Given the description of an element on the screen output the (x, y) to click on. 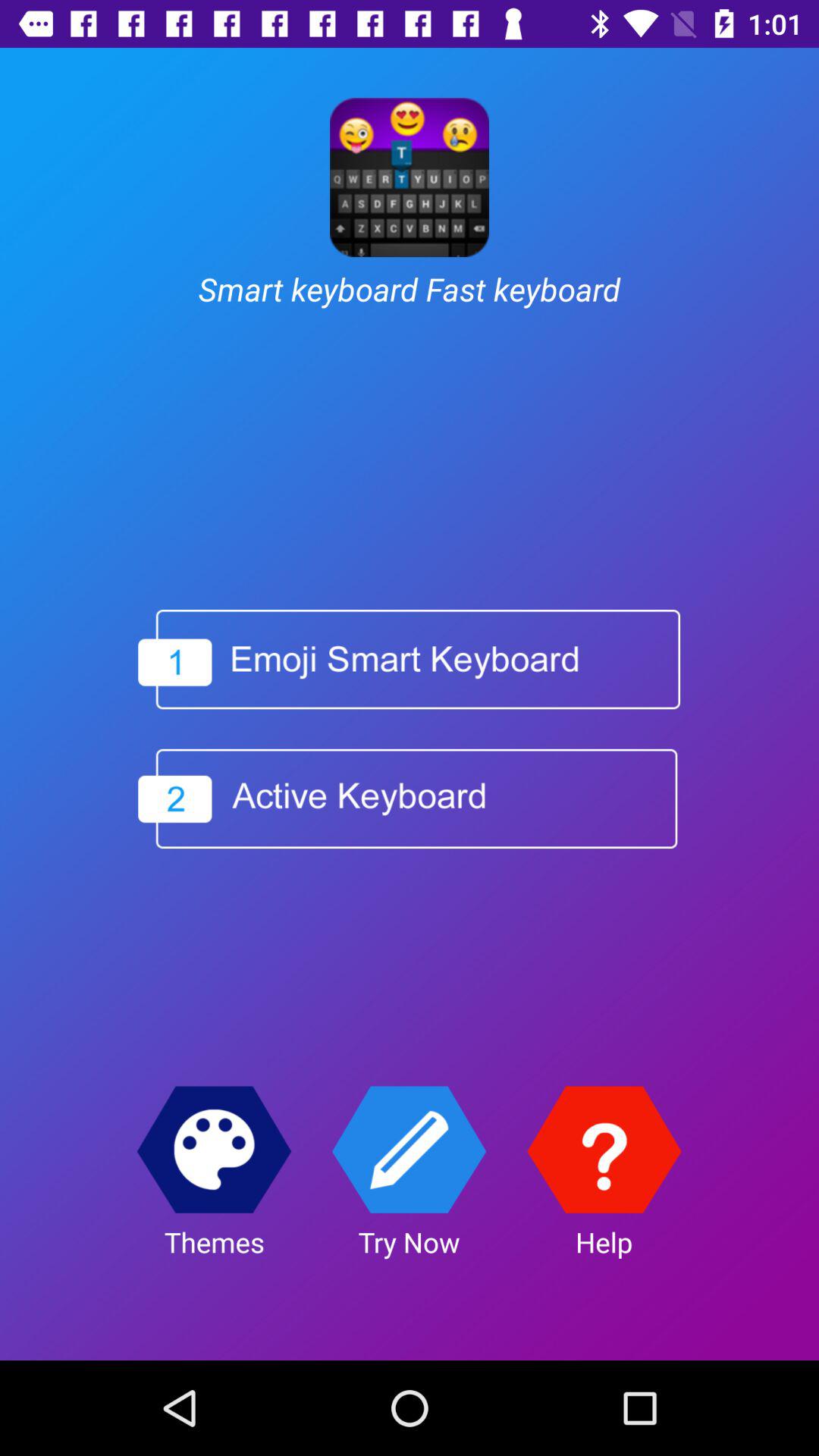
emoji smart keyboard (409, 659)
